Given the description of an element on the screen output the (x, y) to click on. 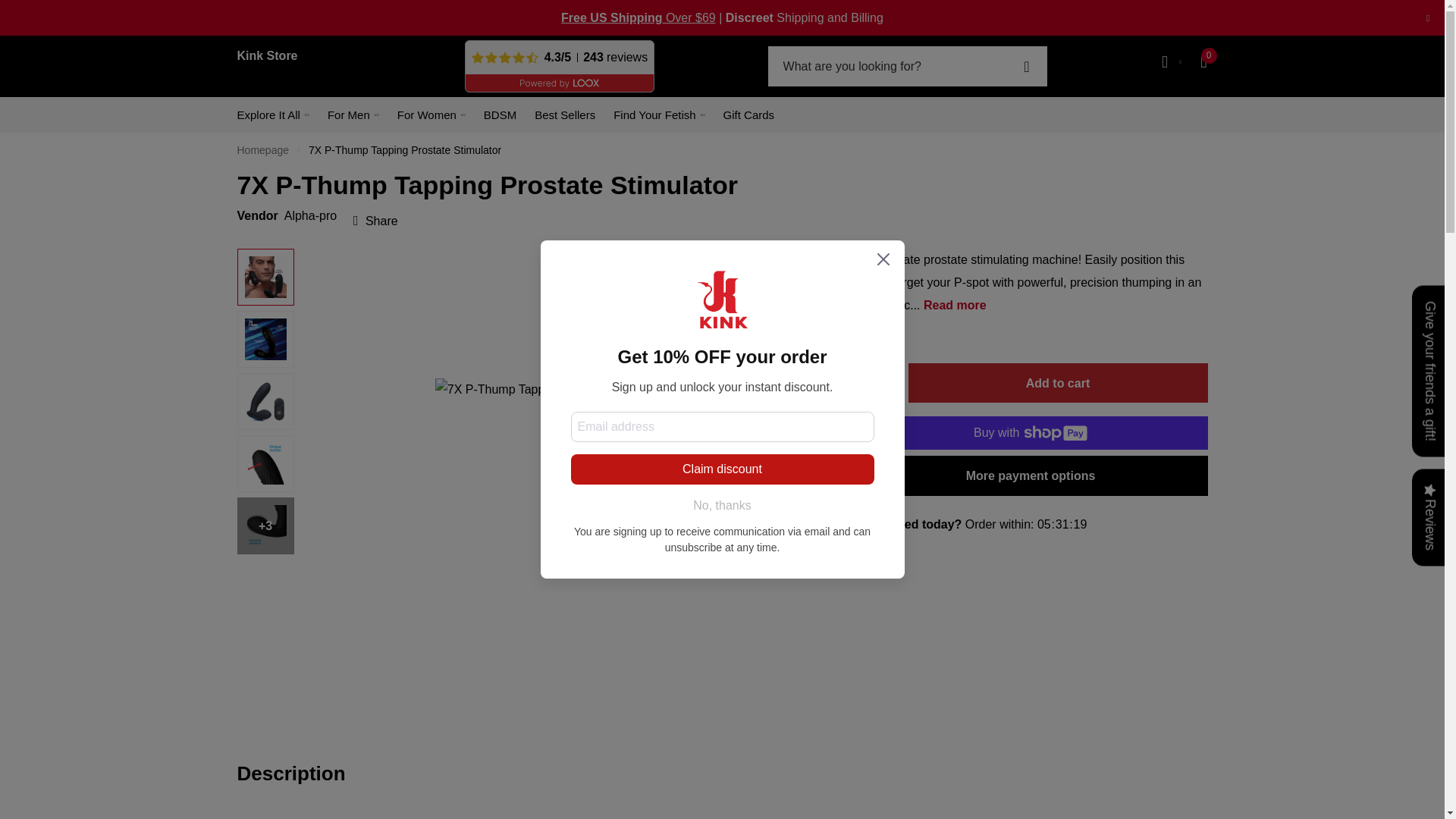
1 (877, 383)
Home (261, 150)
Help (638, 17)
Explore It All (267, 114)
Zoeken (1026, 65)
Close (1427, 18)
0 (1203, 61)
